Given the description of an element on the screen output the (x, y) to click on. 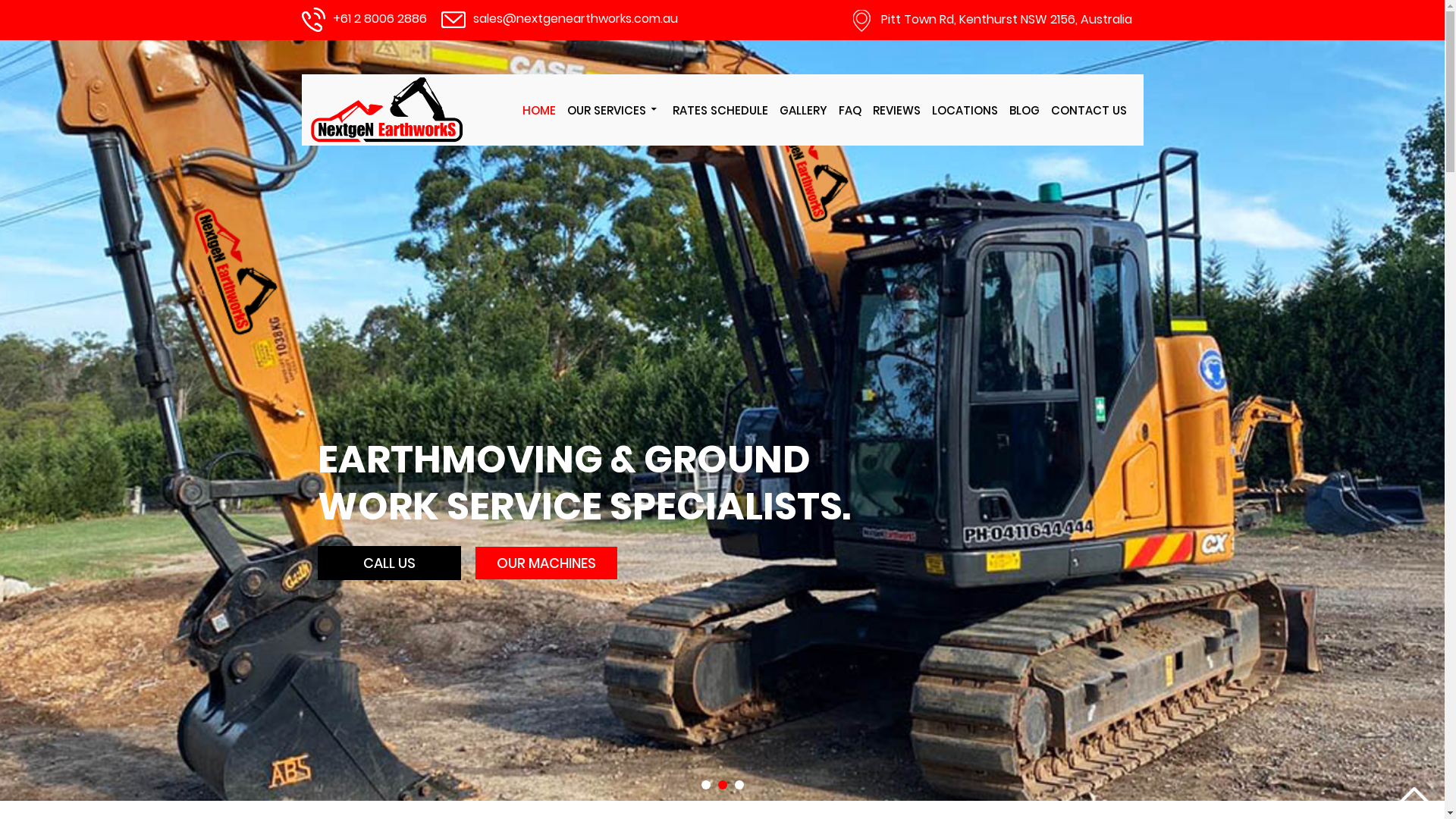
HOME Element type: text (538, 110)
+61 2 8006 2886 Element type: text (379, 18)
FAQ Element type: text (850, 110)
CONTACT US Element type: text (1088, 110)
REVIEWS Element type: text (895, 110)
OUR SERVICES Element type: text (613, 110)
GALLERY Element type: text (803, 110)
RATES SCHEDULE Element type: text (719, 110)
Back to top Element type: hover (1414, 794)
CALL US Element type: text (389, 563)
LOCATIONS Element type: text (963, 110)
OUR MACHINES Element type: text (546, 562)
BLOG Element type: text (1023, 110)
sales@nextgenearthworks.com.au Element type: text (575, 18)
SKIP TO CONTENT Element type: text (526, 74)
